Given the description of an element on the screen output the (x, y) to click on. 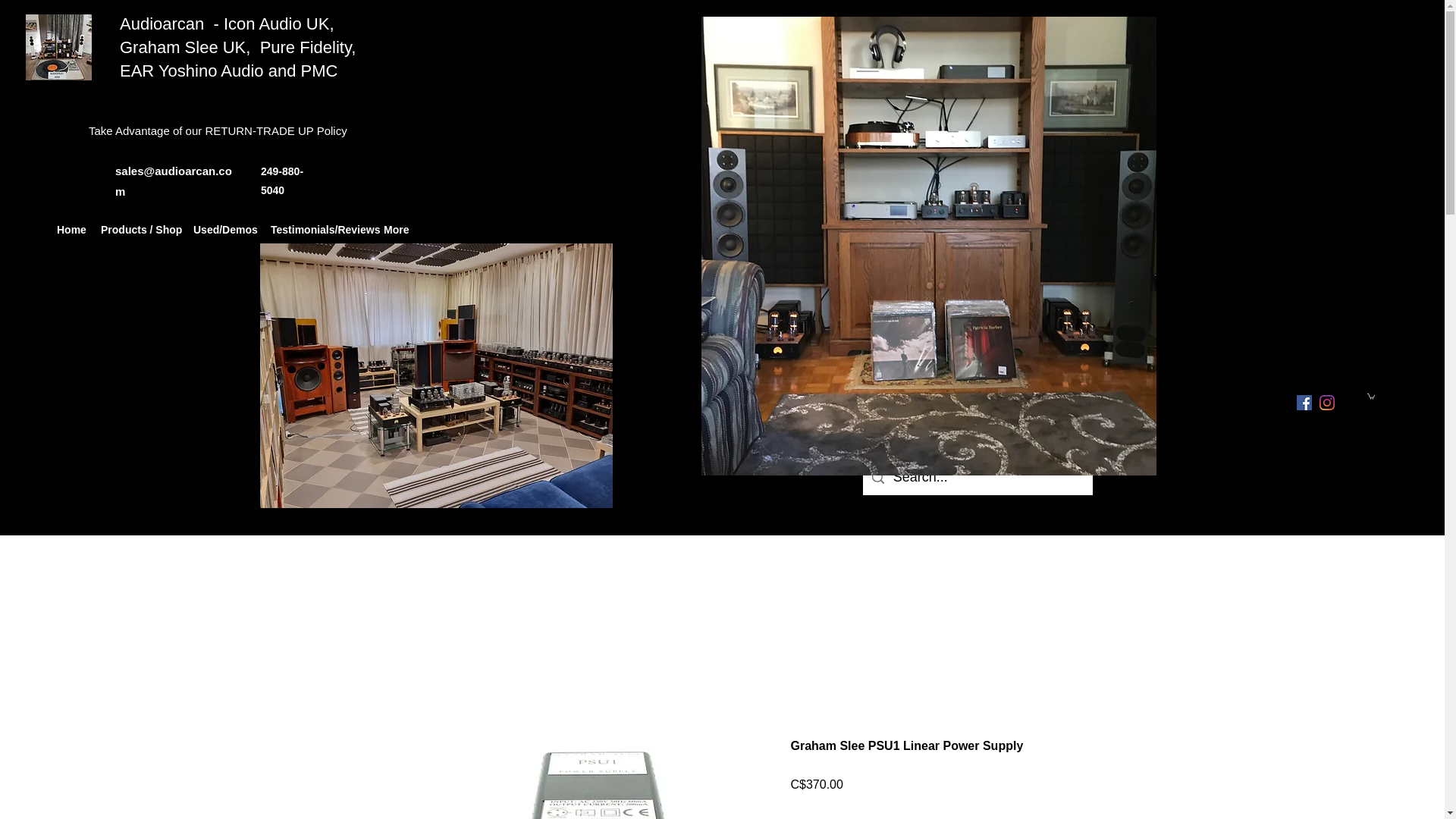
borys all black 2.jpg (435, 375)
Home (71, 229)
